Given the description of an element on the screen output the (x, y) to click on. 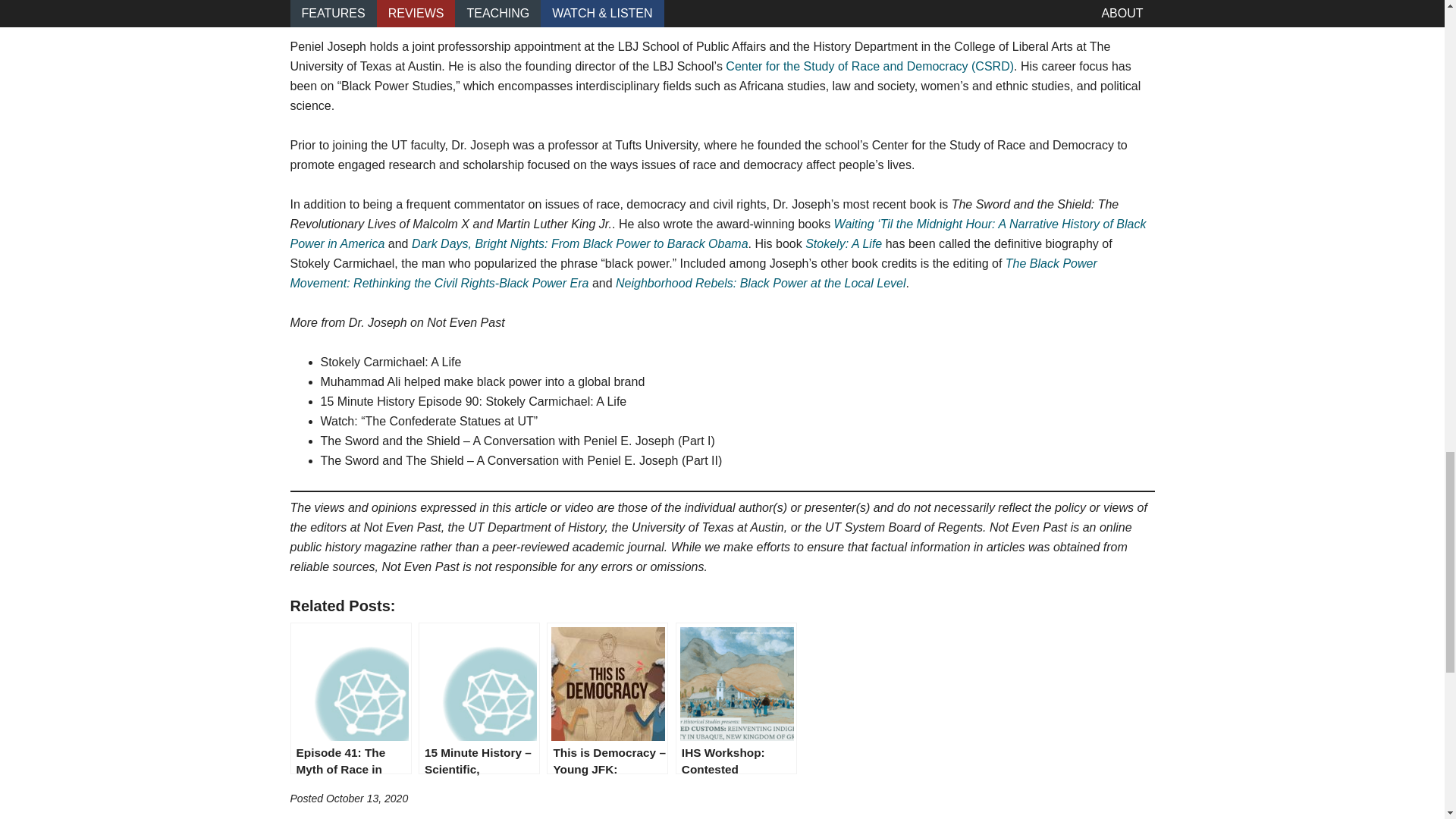
Neighborhood Rebels: Black Power at the Local Level (760, 282)
Stokely Carmichael: A Life (390, 361)
Stokely: A Life (843, 243)
Muhammad Ali helped make black power into a global brand (482, 381)
15 Minute History Episode 90: Stokely Carmichael: A Life (473, 400)
Dark Days, Bright Nights: From Black Power to Barack Obama (580, 243)
